Given the description of an element on the screen output the (x, y) to click on. 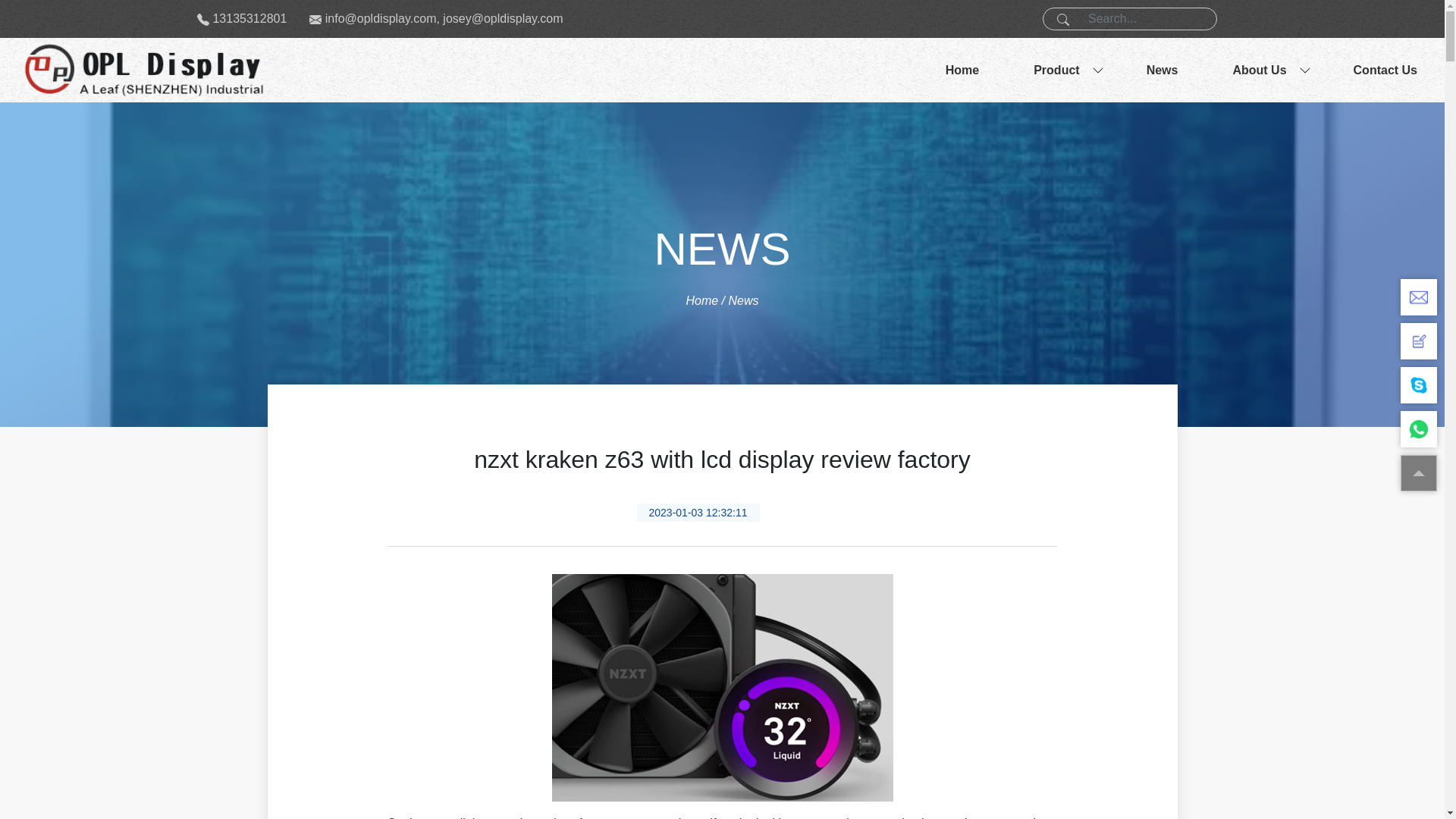
Home (962, 69)
Home (701, 300)
News (1162, 69)
About Us (1259, 69)
Contact Us (1384, 69)
Product (1056, 69)
